Given the description of an element on the screen output the (x, y) to click on. 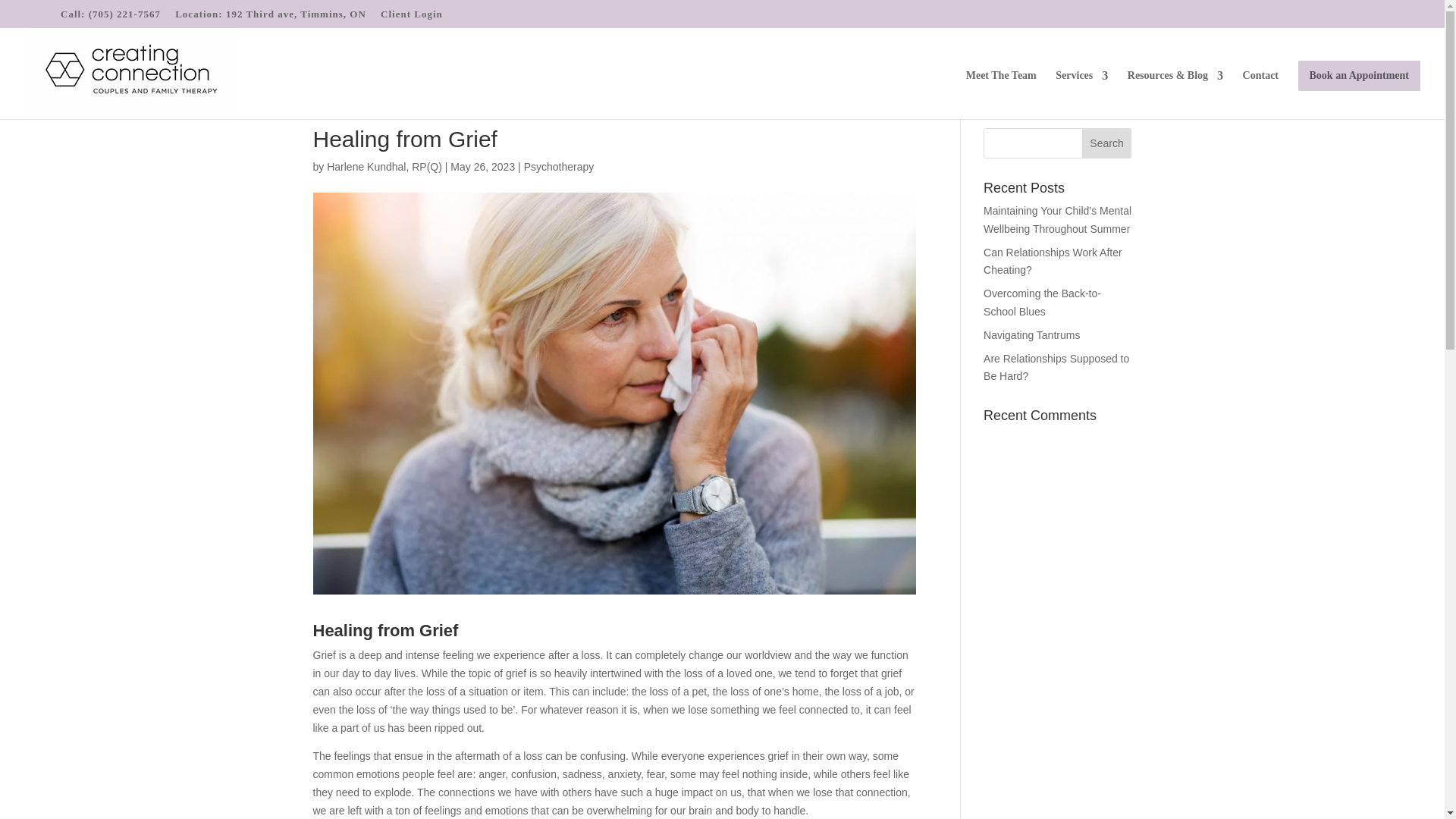
Search (1106, 142)
Can Relationships Work After Cheating? (1053, 261)
Book an Appointment (1359, 75)
Services (1081, 94)
Search (1106, 142)
Overcoming the Back-to-School Blues (1042, 302)
Navigating Tantrums (1032, 335)
Are Relationships Supposed to Be Hard? (1056, 367)
Client Login (411, 17)
Meet The Team (1001, 94)
